Given the description of an element on the screen output the (x, y) to click on. 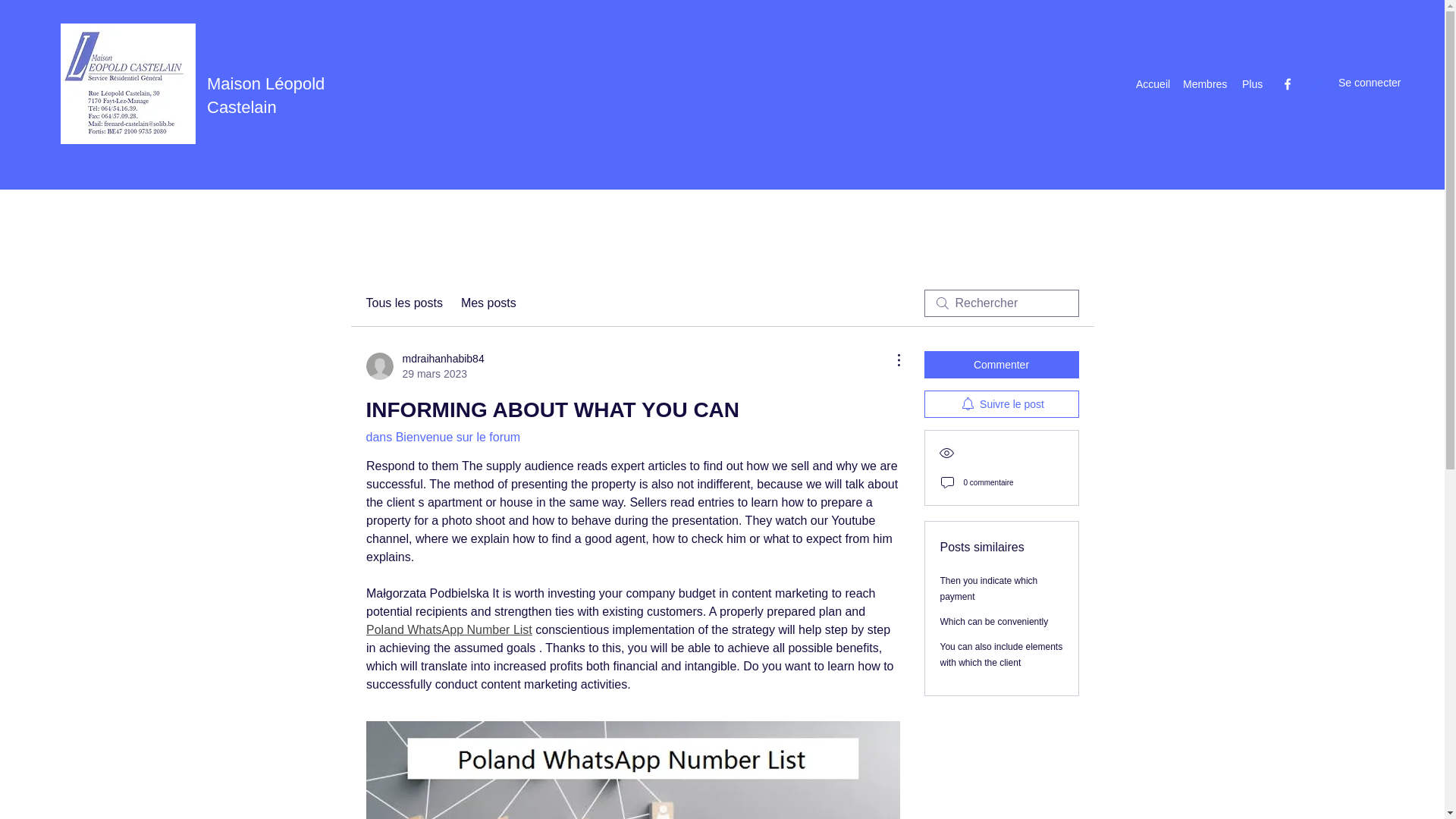
Poland WhatsApp Number List (448, 629)
Se connecter (1342, 82)
Which can be conveniently (994, 621)
Mes posts (488, 303)
Then you indicate which payment (989, 588)
dans Bienvenue sur le forum (442, 436)
Commenter (1000, 364)
You can also include elements with which the client (424, 366)
Membres (1001, 654)
